Given the description of an element on the screen output the (x, y) to click on. 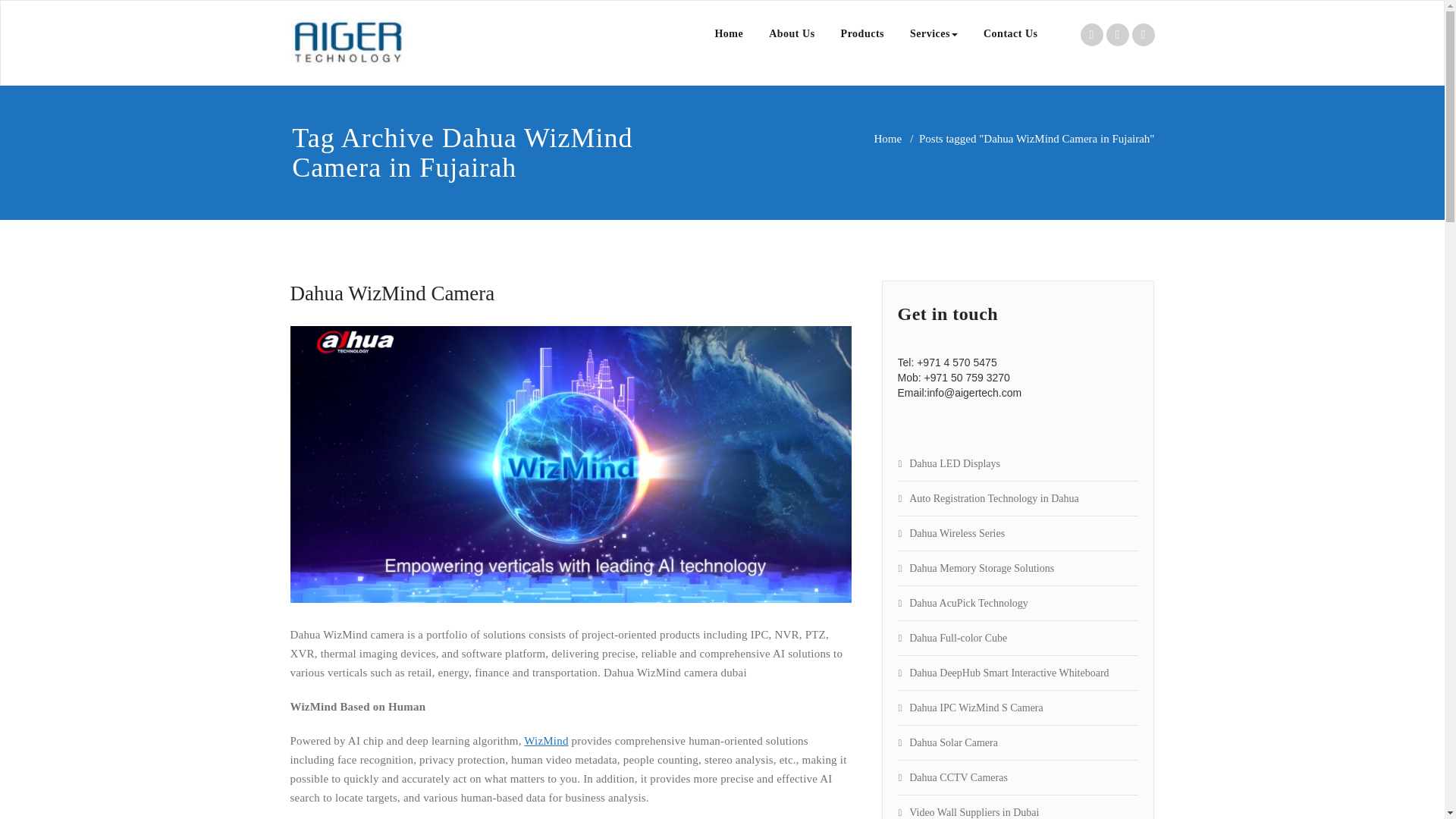
Auto Registration Technology in Dahua (988, 498)
Video Wall Suppliers in Dubai (968, 812)
Dahua IPC WizMind S Camera (970, 707)
Dahua Memory Storage Solutions (976, 568)
WizMind (545, 740)
Dahua DeepHub Smart Interactive Whiteboard (1003, 672)
Dahua AcuPick Technology (962, 603)
Home (887, 138)
Contact Us (1011, 33)
Dahua Wireless Series (952, 532)
